Given the description of an element on the screen output the (x, y) to click on. 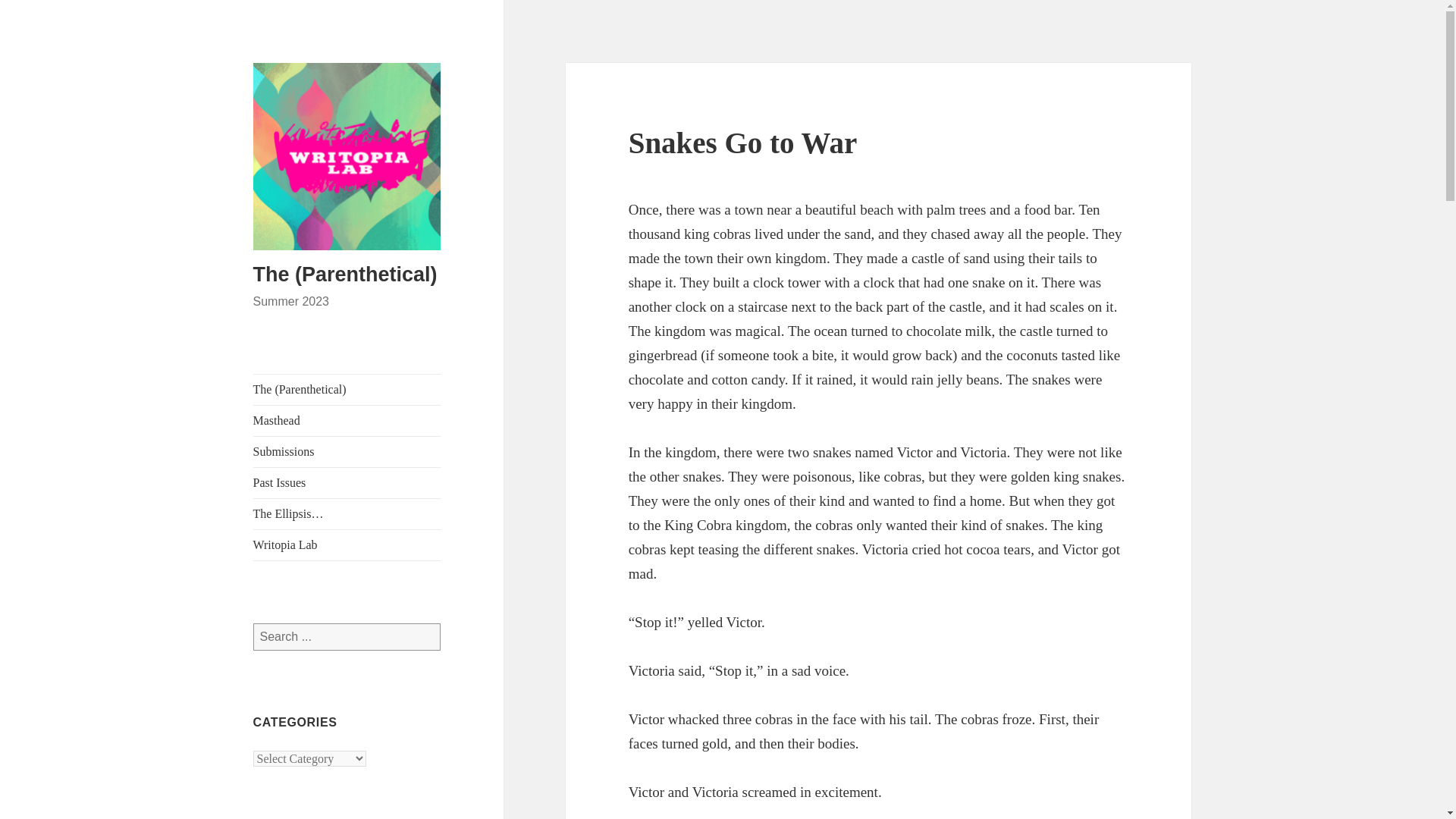
Masthead (347, 420)
Past Issues (347, 482)
Submissions (347, 451)
Writopia Lab (347, 544)
